Given the description of an element on the screen output the (x, y) to click on. 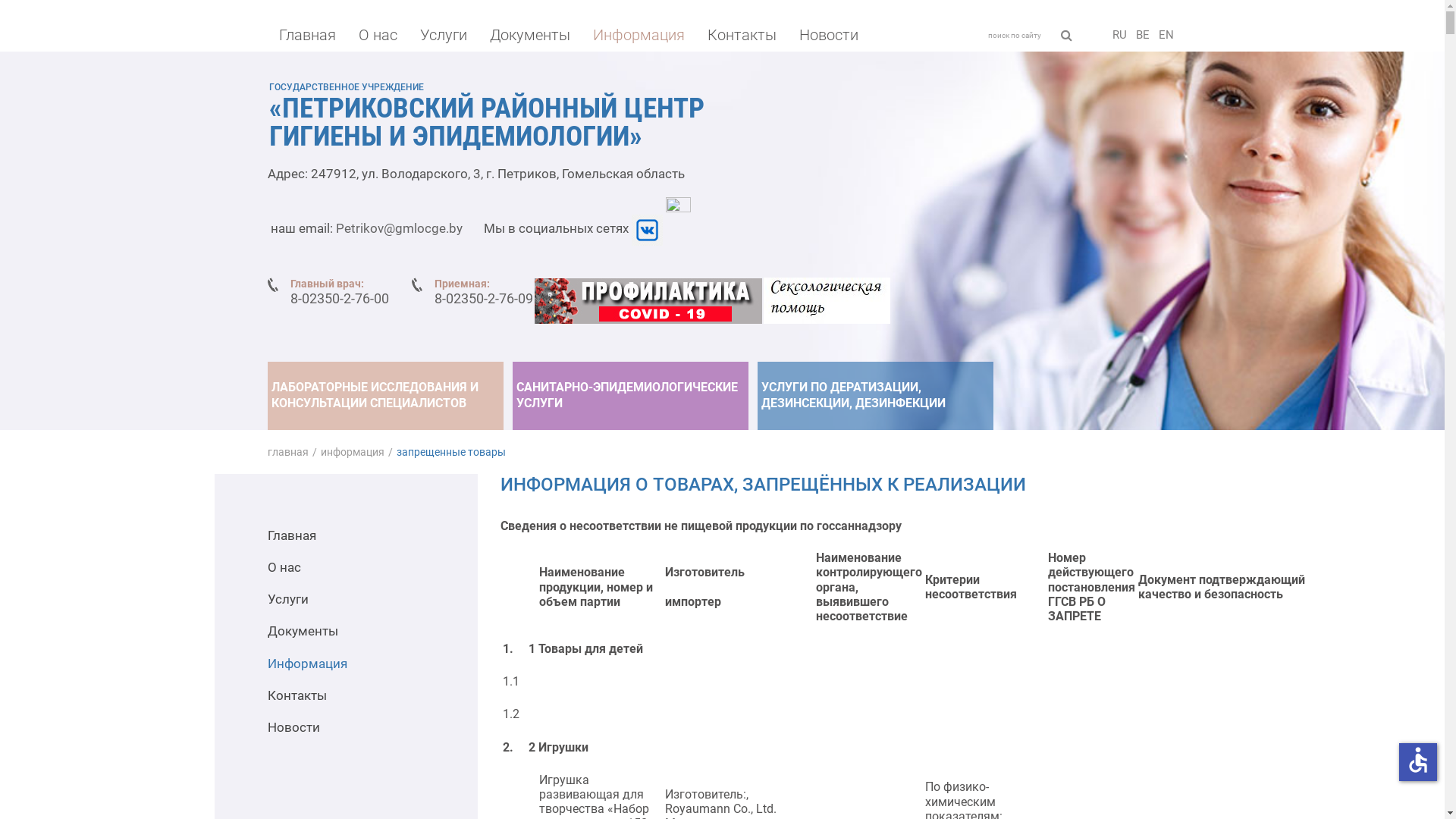
Petrikov@gmlocge.by Element type: text (398, 227)
EN Element type: text (1165, 34)
RU Element type: text (1119, 34)
8-02350-2-76-00 Element type: text (338, 298)
8-02350-2-76-09 Element type: text (482, 298)
BE Element type: text (1141, 34)
